Given the description of an element on the screen output the (x, y) to click on. 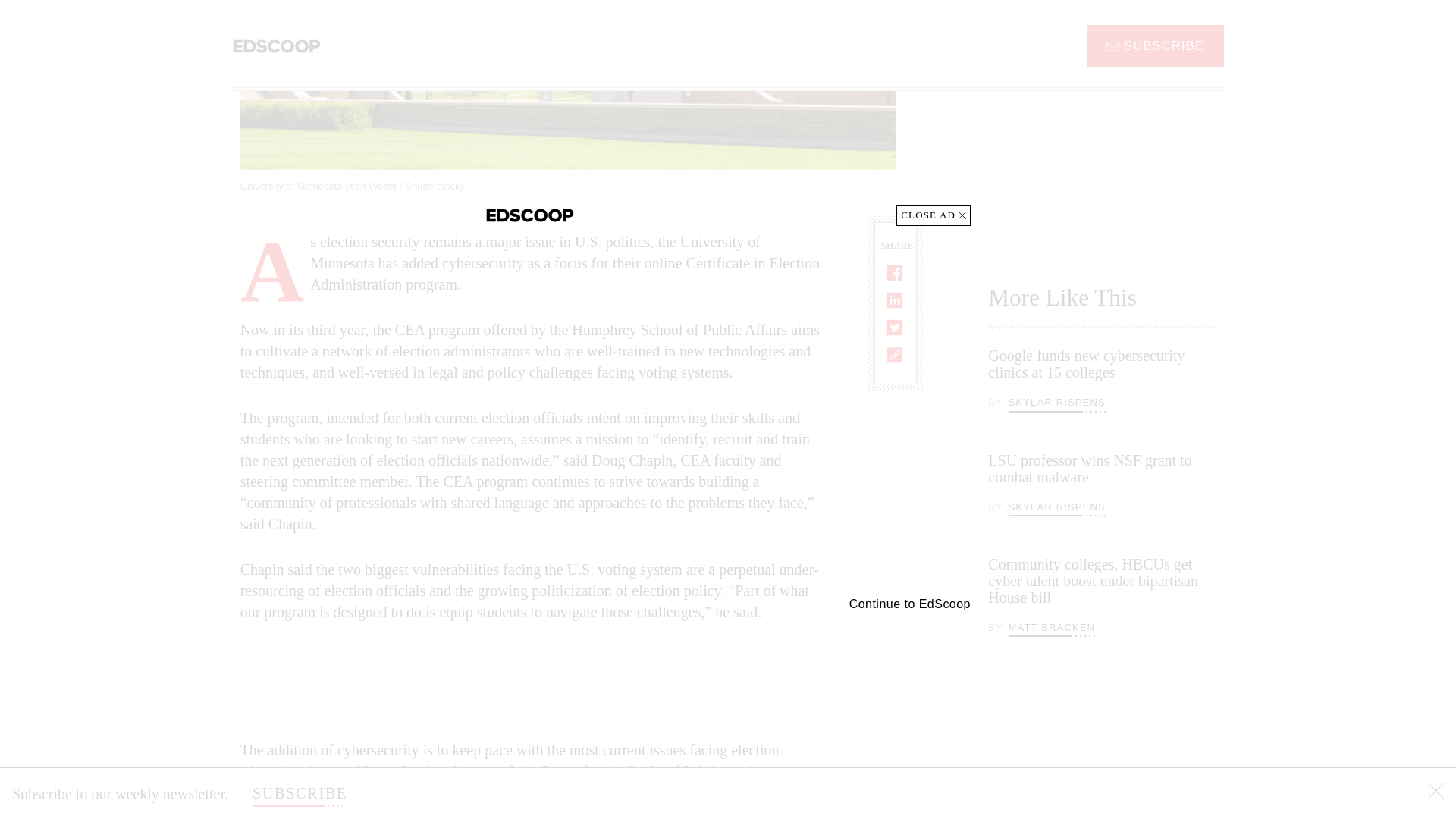
3rd party ad content (1101, 123)
